Given the description of an element on the screen output the (x, y) to click on. 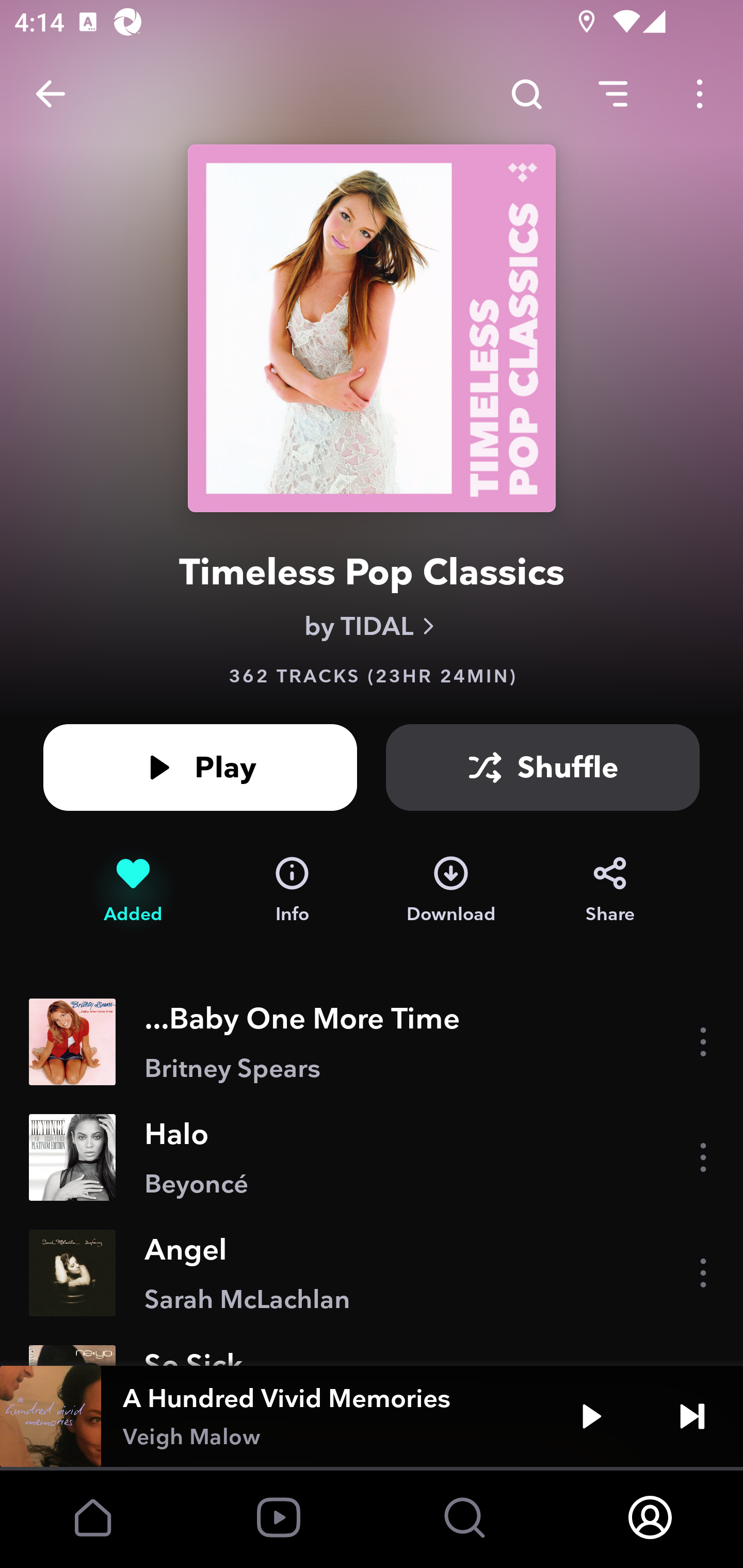
Back (50, 93)
Search (525, 93)
Sorting (612, 93)
Options (699, 93)
by TIDAL (371, 625)
Play (200, 767)
Shuffle (542, 767)
Added (132, 890)
Info (291, 890)
Download (450, 890)
Share (609, 890)
...Baby One More Time Britney Spears (371, 1041)
Halo Beyoncé (371, 1157)
Angel Sarah McLachlan (371, 1273)
A Hundred Vivid Memories Veigh Malow Play (371, 1416)
Play (590, 1416)
